Given the description of an element on the screen output the (x, y) to click on. 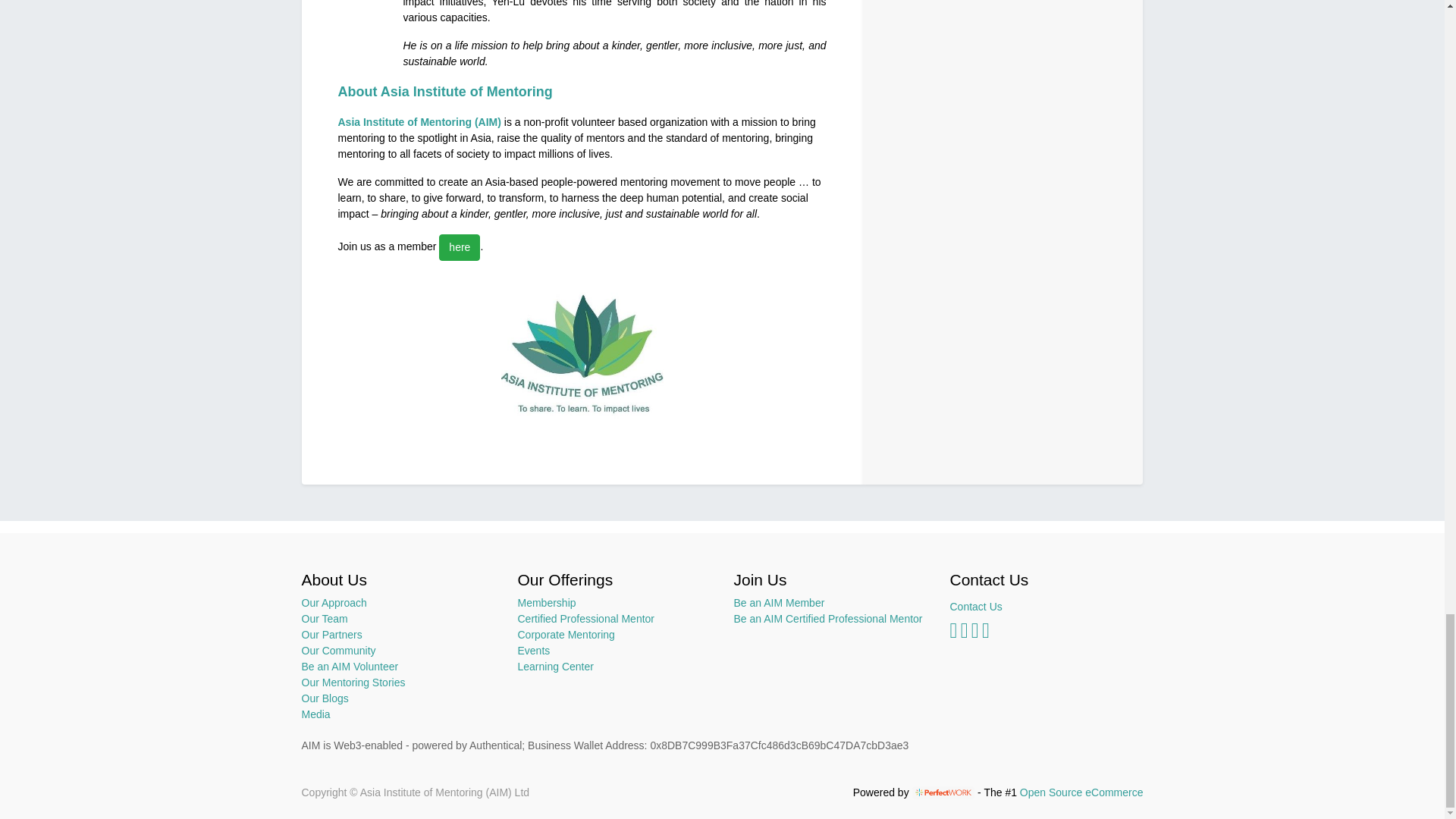
About Asia Institute of Mentoring (445, 91)
